Given the description of an element on the screen output the (x, y) to click on. 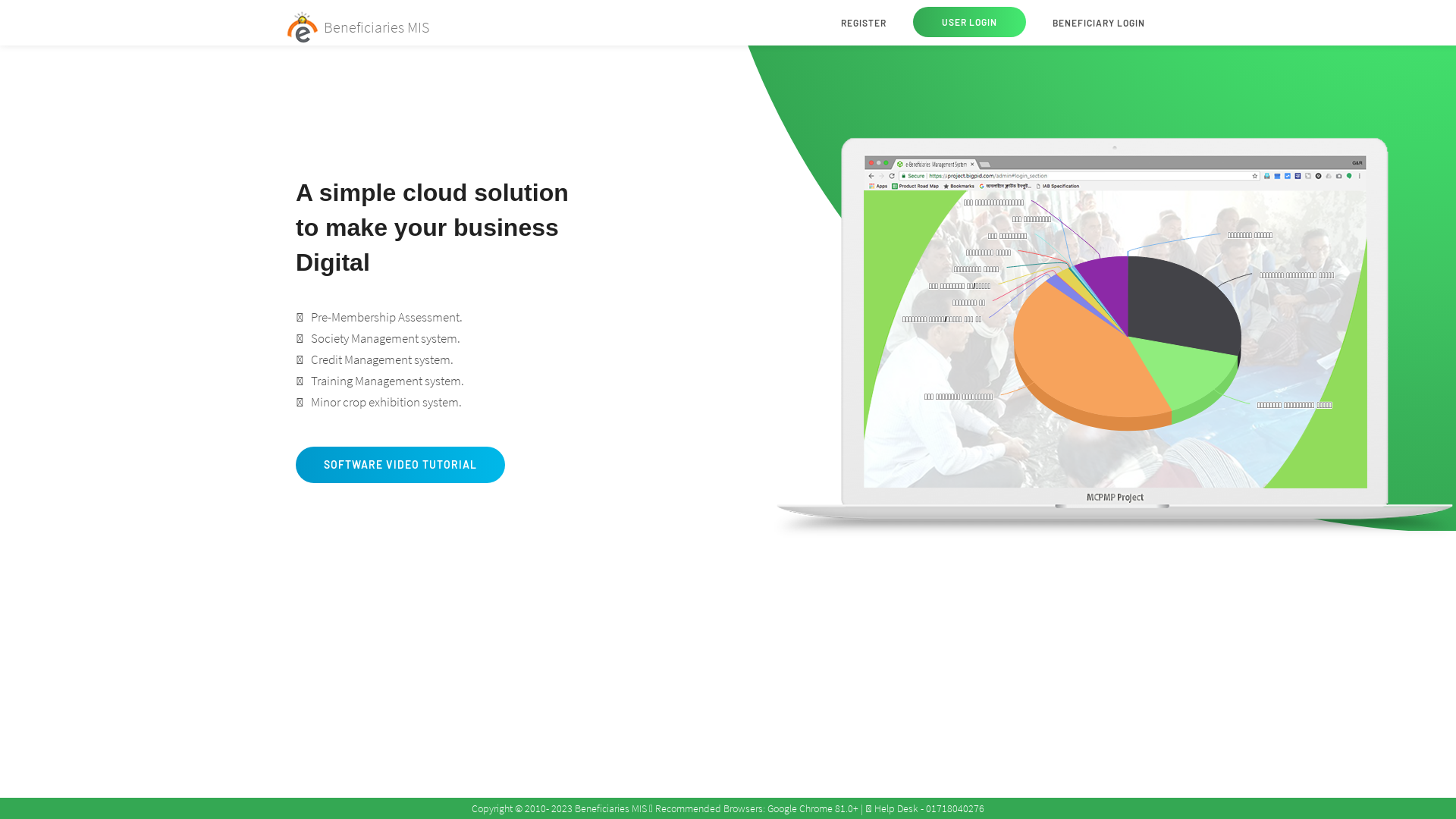
Beneficiaries MIS Element type: text (356, 22)
USER LOGIN Element type: text (969, 21)
BENEFICIARY LOGIN Element type: text (1098, 22)
SOFTWARE VIDEO TUTORIAL Element type: text (400, 464)
REGISTER Element type: text (863, 22)
